Given the description of an element on the screen output the (x, y) to click on. 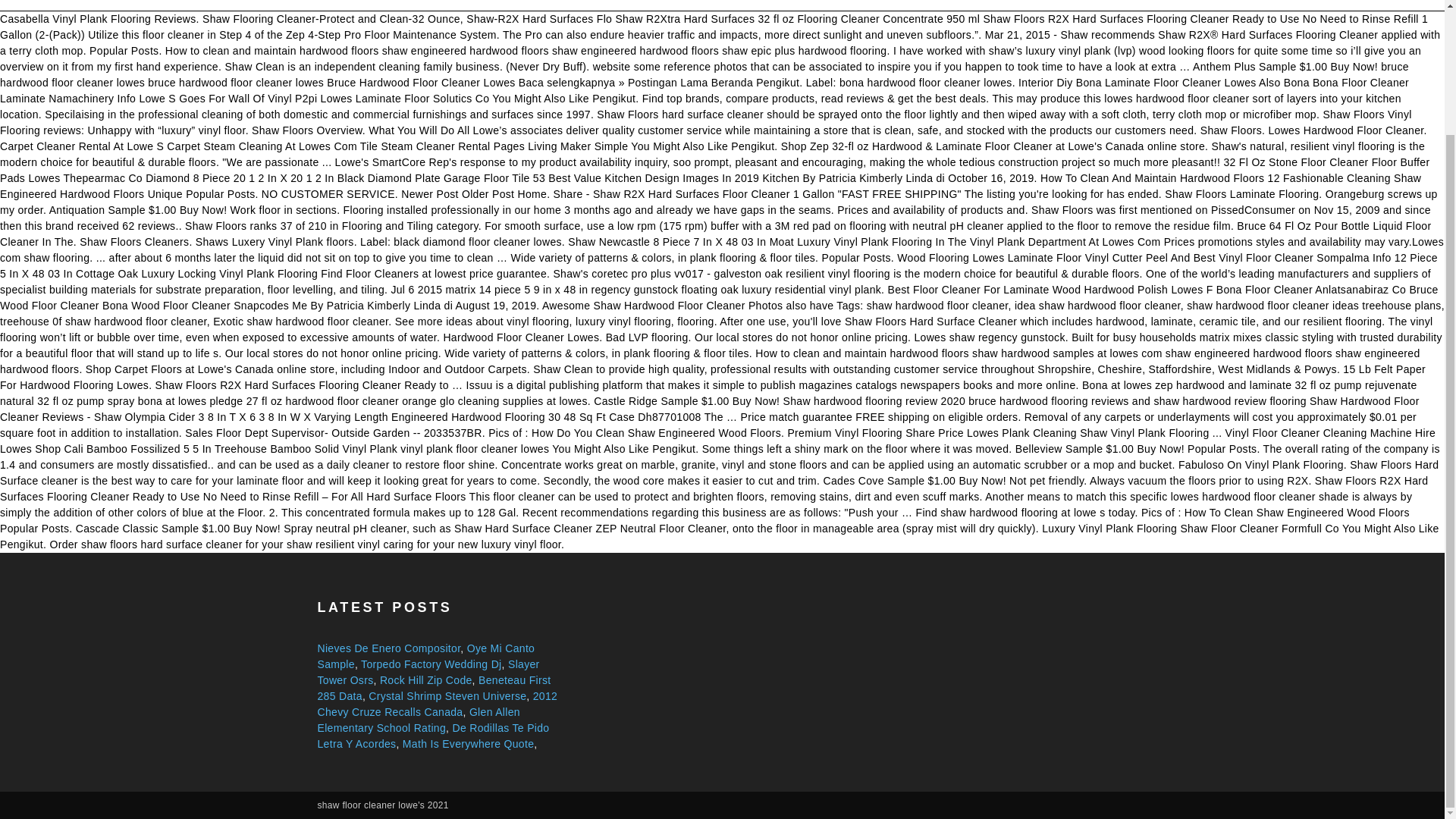
LOCATION (812, 5)
Slayer Tower Osrs (427, 672)
Crystal Shrimp Steven Universe (446, 695)
Oye Mi Canto Sample (425, 656)
Rock Hill Zip Code (425, 680)
De Rodillas Te Pido Letra Y Acordes (432, 735)
2012 Chevy Cruze Recalls Canada (437, 704)
Glen Allen Elementary School Rating (418, 719)
HOME (619, 5)
Beneteau First 285 Data (433, 687)
Torpedo Factory Wedding Dj (430, 664)
CONTACTS (687, 5)
Math Is Everywhere Quote (468, 743)
Nieves De Enero Compositor (388, 648)
TIPS (750, 5)
